Given the description of an element on the screen output the (x, y) to click on. 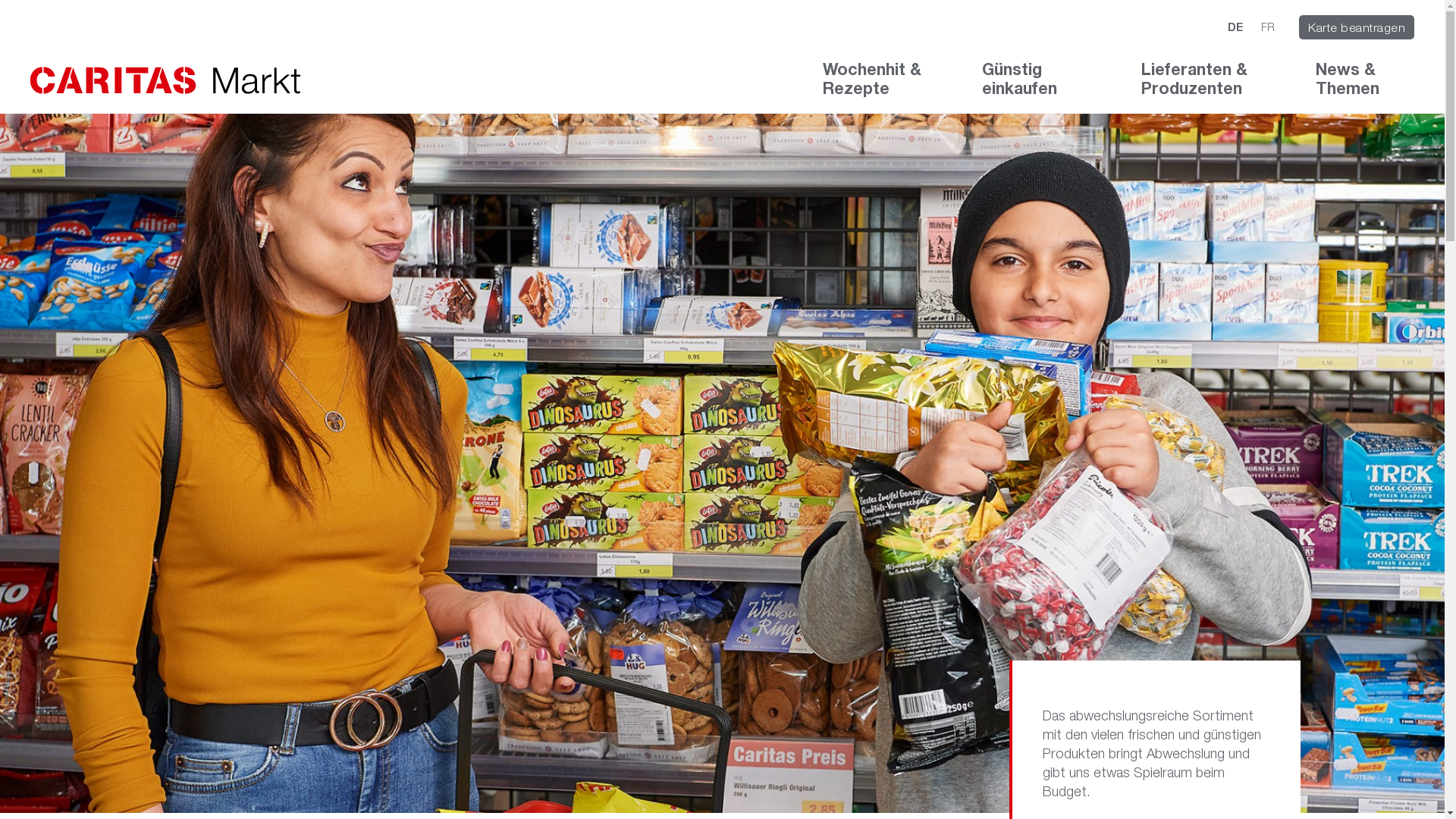
Lieferanten & Produzenten Element type: text (1205, 86)
DE Element type: text (1235, 27)
News & Themen Element type: text (1364, 86)
Karte beantragen Element type: text (1356, 27)
Wochenhit & Rezepte Element type: text (879, 86)
FR Element type: text (1267, 27)
